Given the description of an element on the screen output the (x, y) to click on. 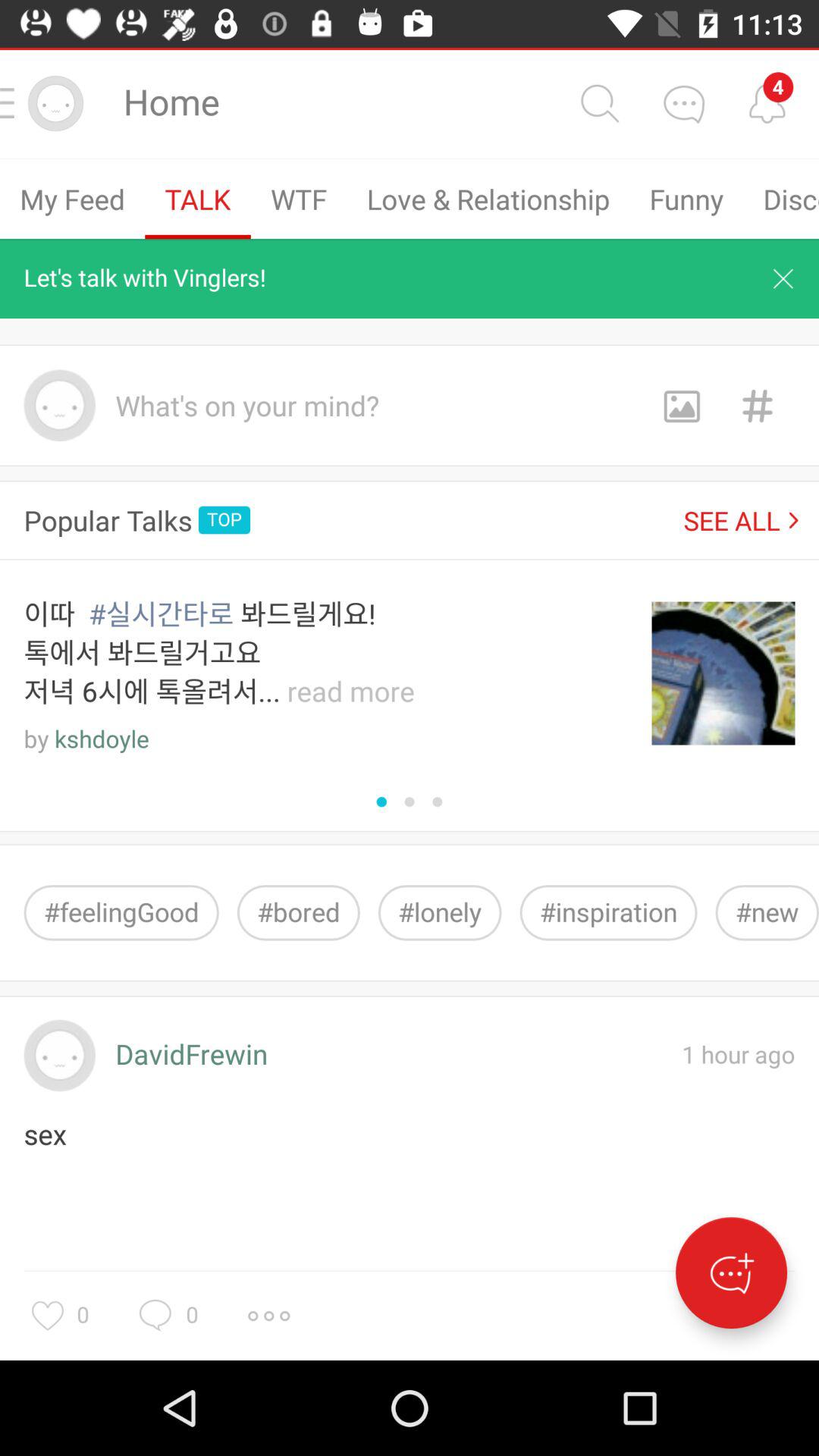
gallery button (681, 405)
